Given the description of an element on the screen output the (x, y) to click on. 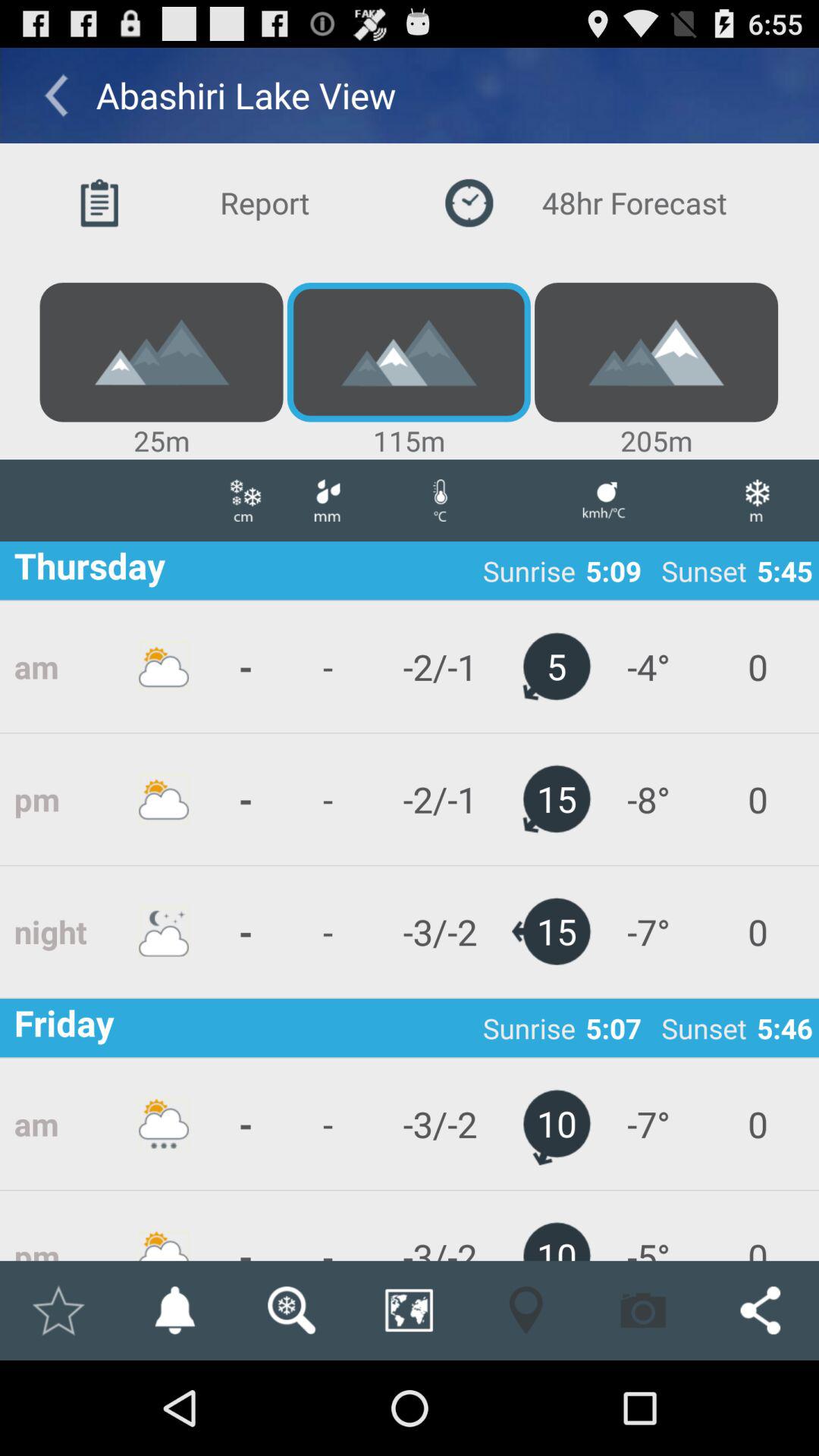
turn on item to the left of -2/-1 app (327, 931)
